Given the description of an element on the screen output the (x, y) to click on. 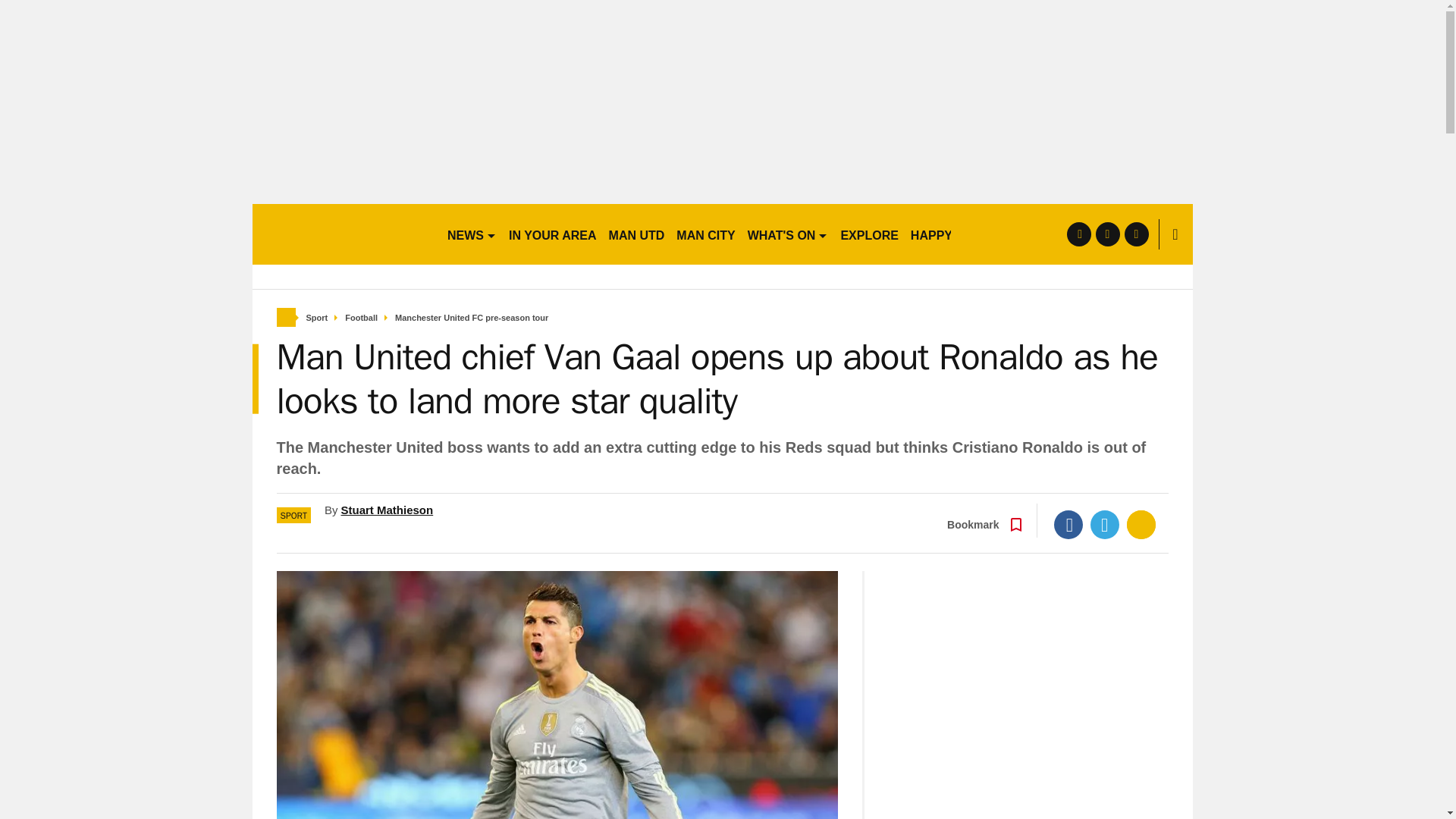
MAN UTD (636, 233)
Facebook (1068, 524)
men (342, 233)
WHAT'S ON (787, 233)
Twitter (1104, 524)
NEWS (471, 233)
IN YOUR AREA (552, 233)
MAN CITY (705, 233)
instagram (1136, 233)
twitter (1106, 233)
